Given the description of an element on the screen output the (x, y) to click on. 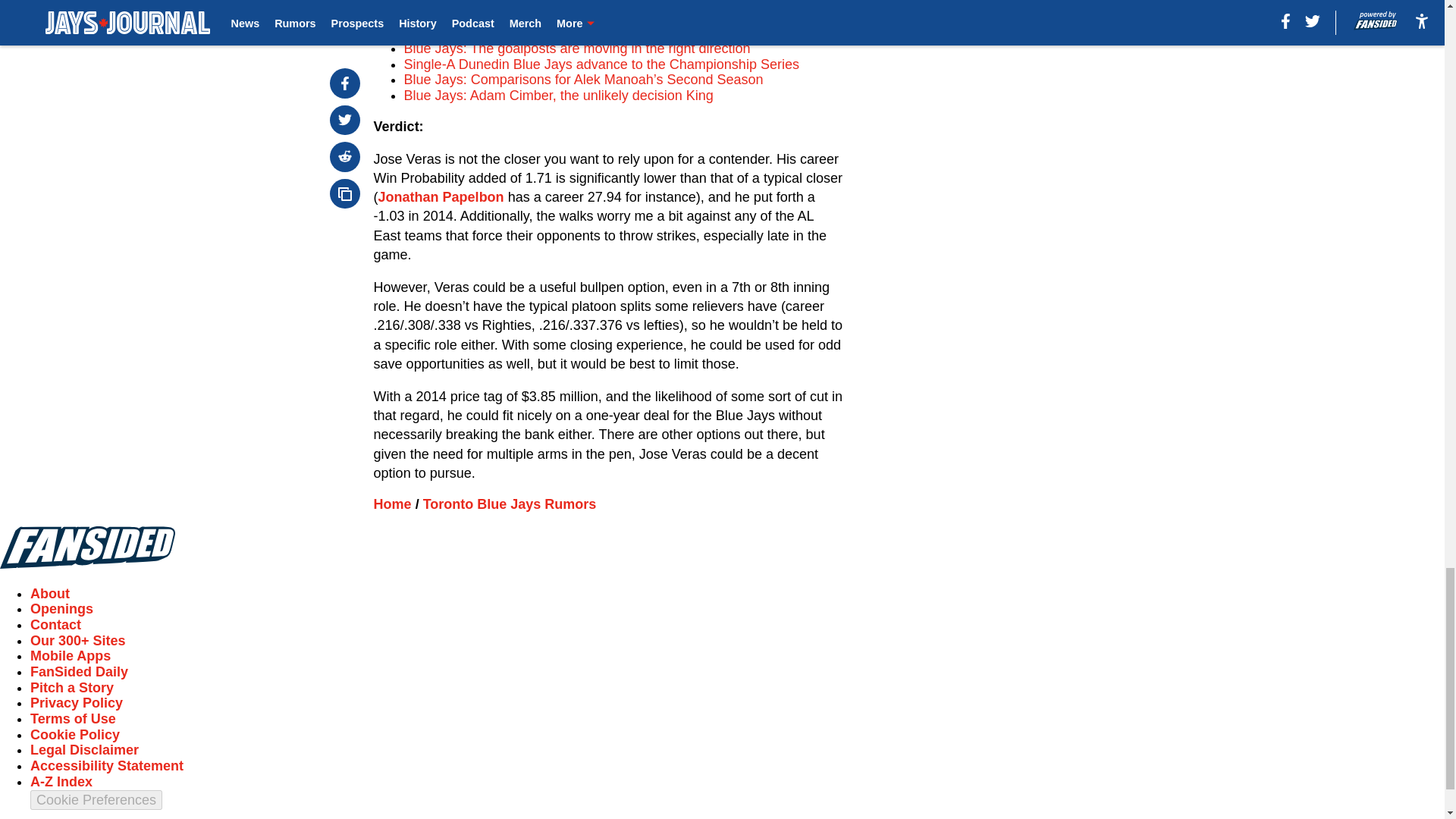
Home (393, 503)
Blue Jays: Adam Cimber, the unlikely decision King (558, 95)
Blue Jays: The goalposts are moving in the right direction (577, 48)
Matt Chapman has been exactly what the Blue Jays needed (585, 32)
Jonathan Papelbon (440, 196)
